Given the description of an element on the screen output the (x, y) to click on. 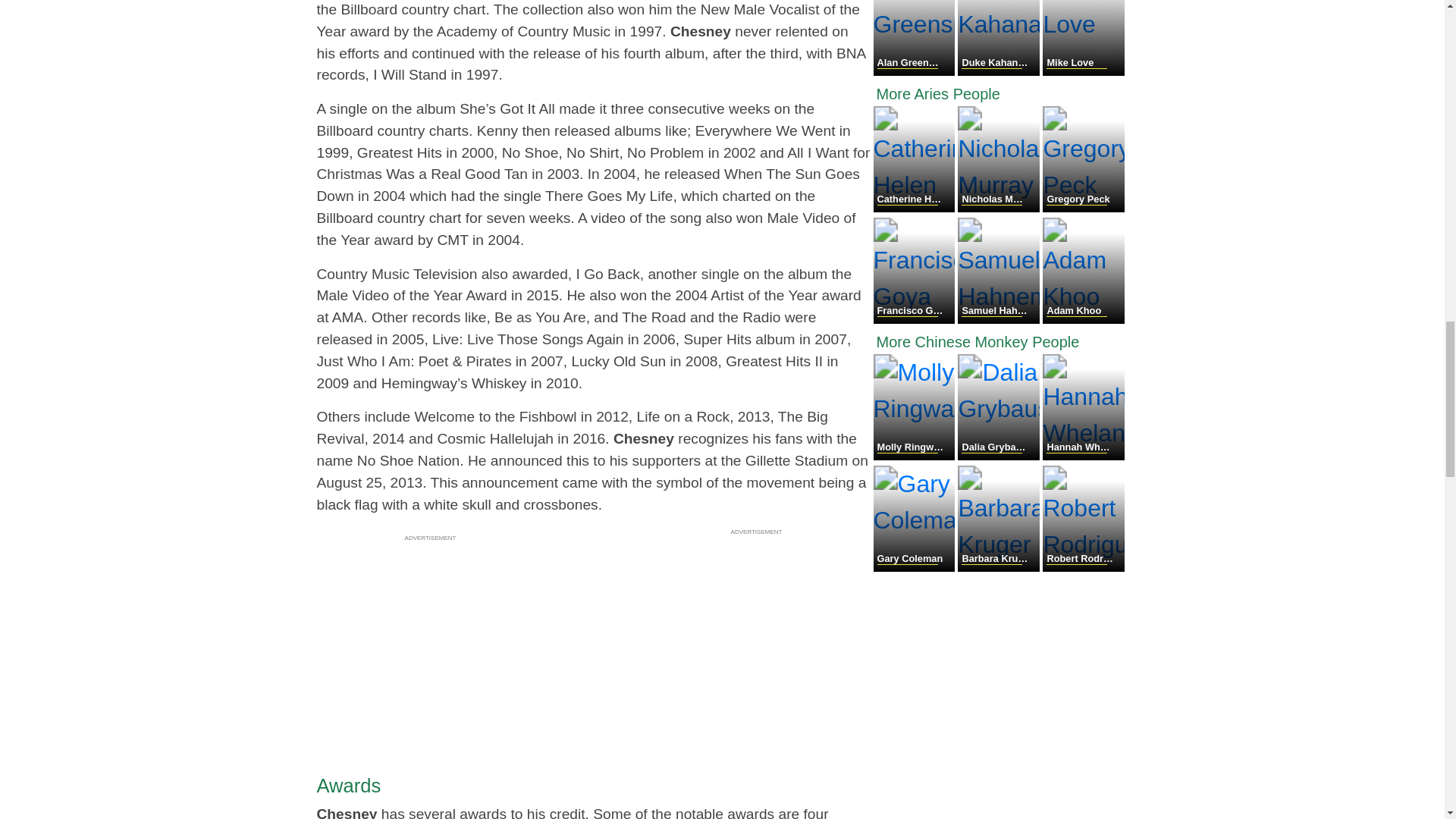
Alan Greenspan (915, 71)
Catherine Helen Spence (915, 207)
Nicholas Murray Butler (1000, 207)
Duke Kahanamoku (1000, 71)
Mike Love (1083, 71)
